Given the description of an element on the screen output the (x, y) to click on. 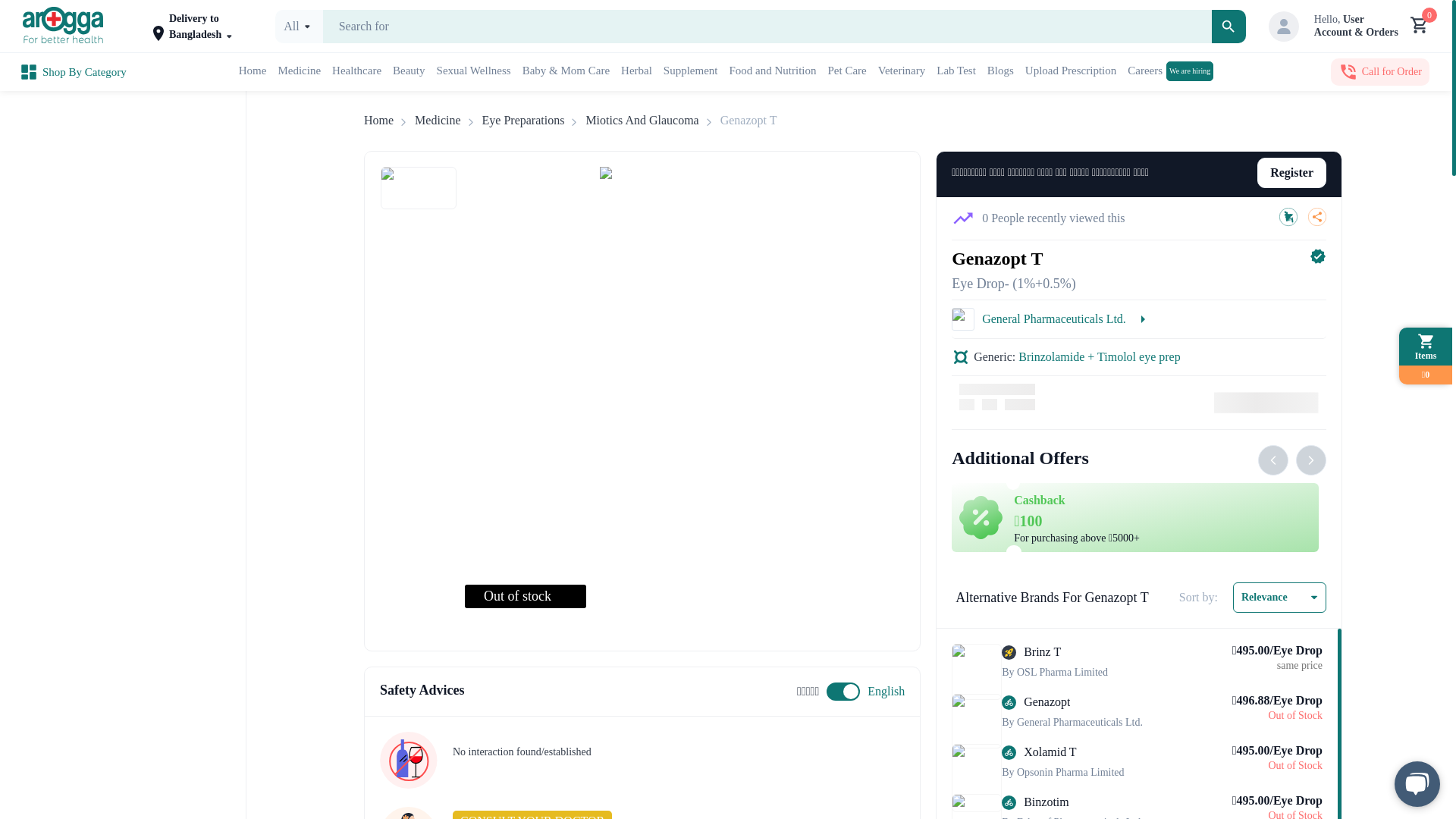
Food and Nutrition (772, 71)
Pet Care (847, 71)
Veterinary (900, 71)
Medicine (437, 119)
Home (378, 119)
Register (1287, 173)
Supplement (1169, 71)
General Pharmaceuticals Ltd. (690, 71)
Medicine (1139, 319)
